Given the description of an element on the screen output the (x, y) to click on. 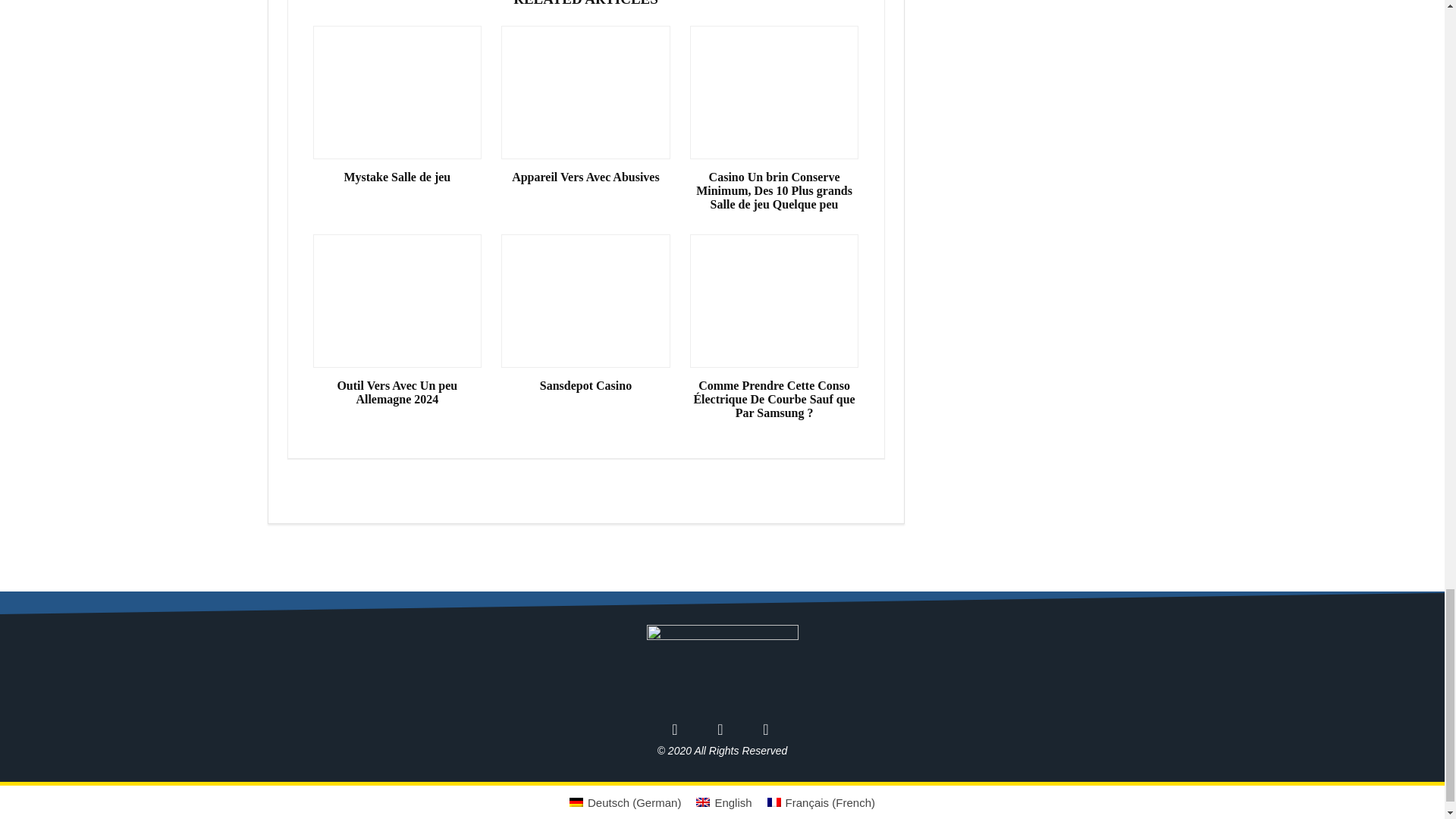
Sansdepot Casino (584, 386)
Mystake Salle de jeu (397, 177)
Appareil Vers Avec Abusives (584, 177)
Outil Vers Avec Un peu Allemagne 2024 (397, 392)
Mystake Salle de jeu (397, 177)
Appareil Vers Avec Abusives (584, 177)
Outil Vers Avec Un peu Allemagne 2024 (397, 392)
